Given the description of an element on the screen output the (x, y) to click on. 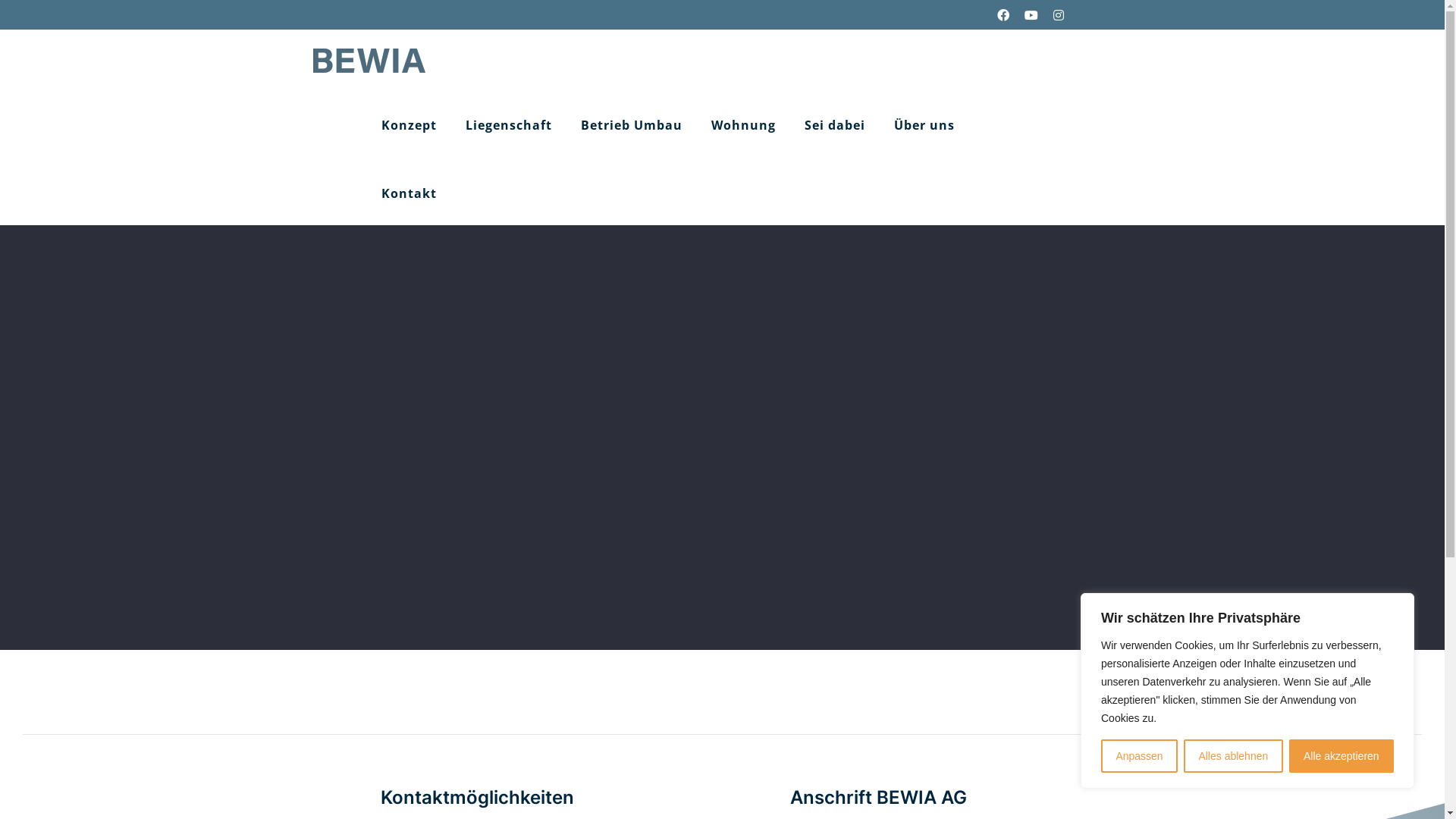
Alle akzeptieren Element type: text (1341, 755)
Betrieb Umbau Element type: text (631, 121)
Liegenschaft Element type: text (508, 121)
Alles ablehnen Element type: text (1233, 755)
Anpassen Element type: text (1139, 755)
Wohnung Element type: text (743, 121)
Instagram Element type: text (1057, 15)
Konzept Element type: text (408, 121)
Facebook Element type: text (1002, 15)
Kontakt Element type: text (408, 190)
Sei dabei Element type: text (833, 121)
YouTube Element type: text (1030, 15)
